Given the description of an element on the screen output the (x, y) to click on. 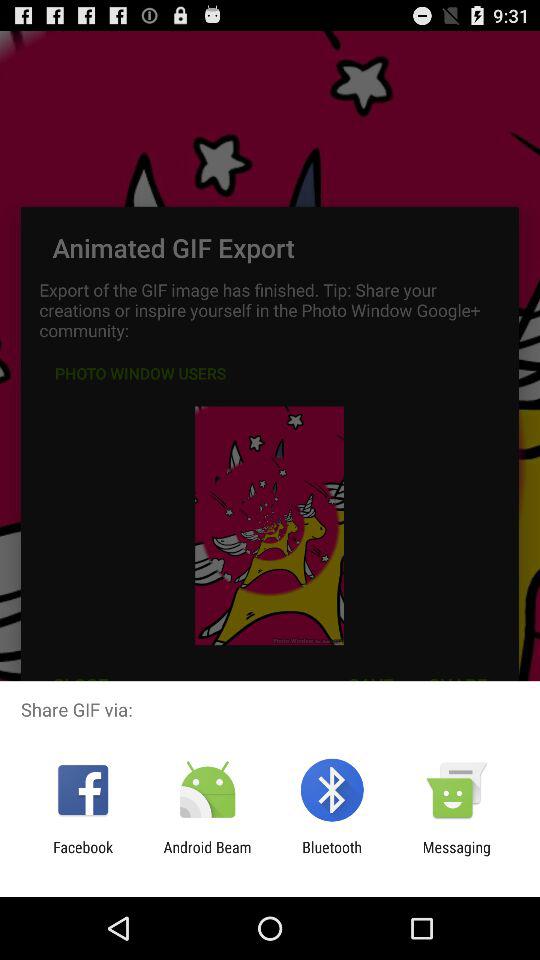
press app next to android beam (83, 856)
